Given the description of an element on the screen output the (x, y) to click on. 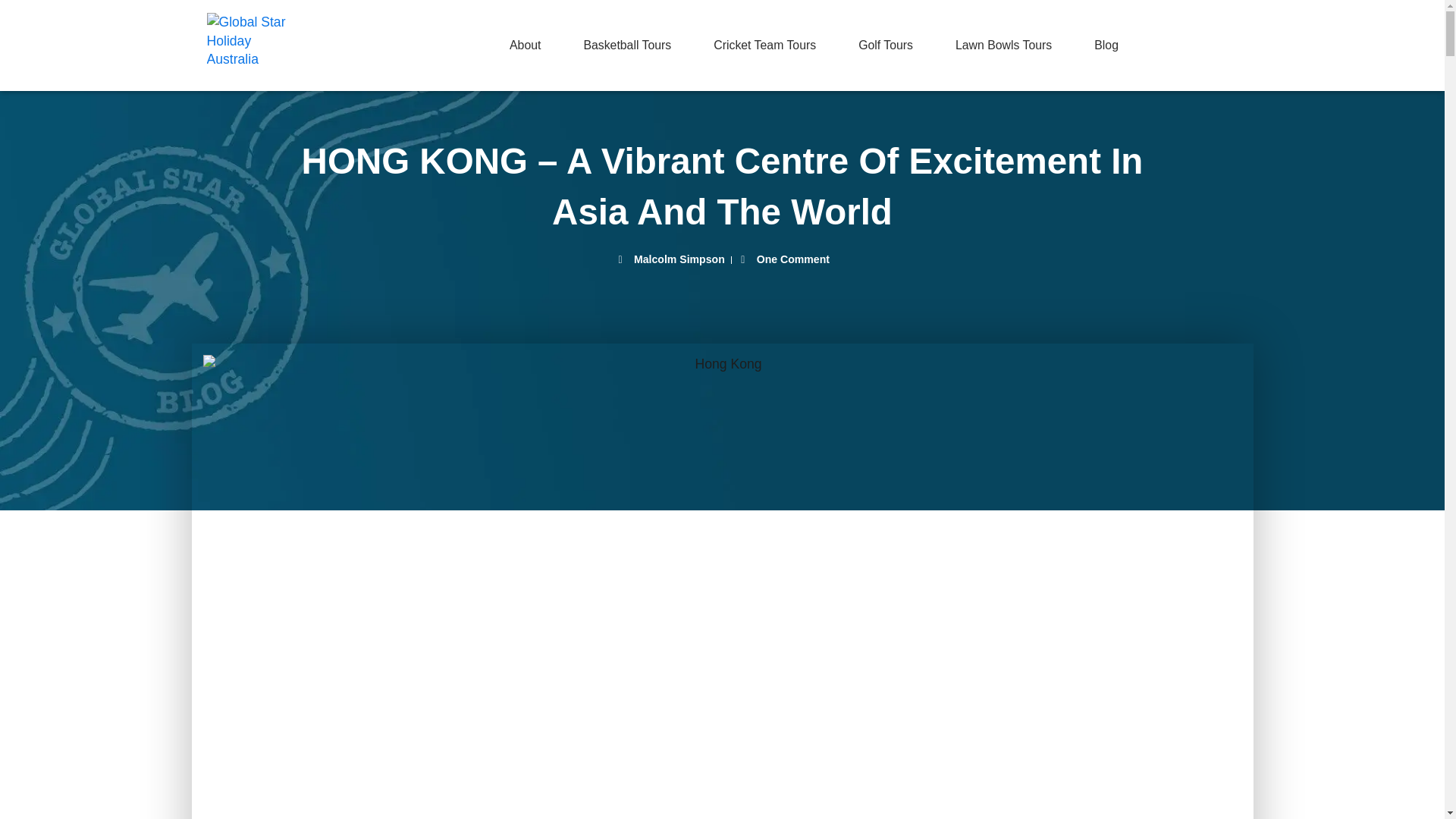
Lawn Bowls Tours (1003, 45)
One Comment (783, 259)
Malcolm Simpson (669, 259)
Golf Tours (885, 45)
Basketball Tours (626, 45)
Blog (1106, 45)
Cricket Team Tours (764, 45)
About (524, 45)
